Given the description of an element on the screen output the (x, y) to click on. 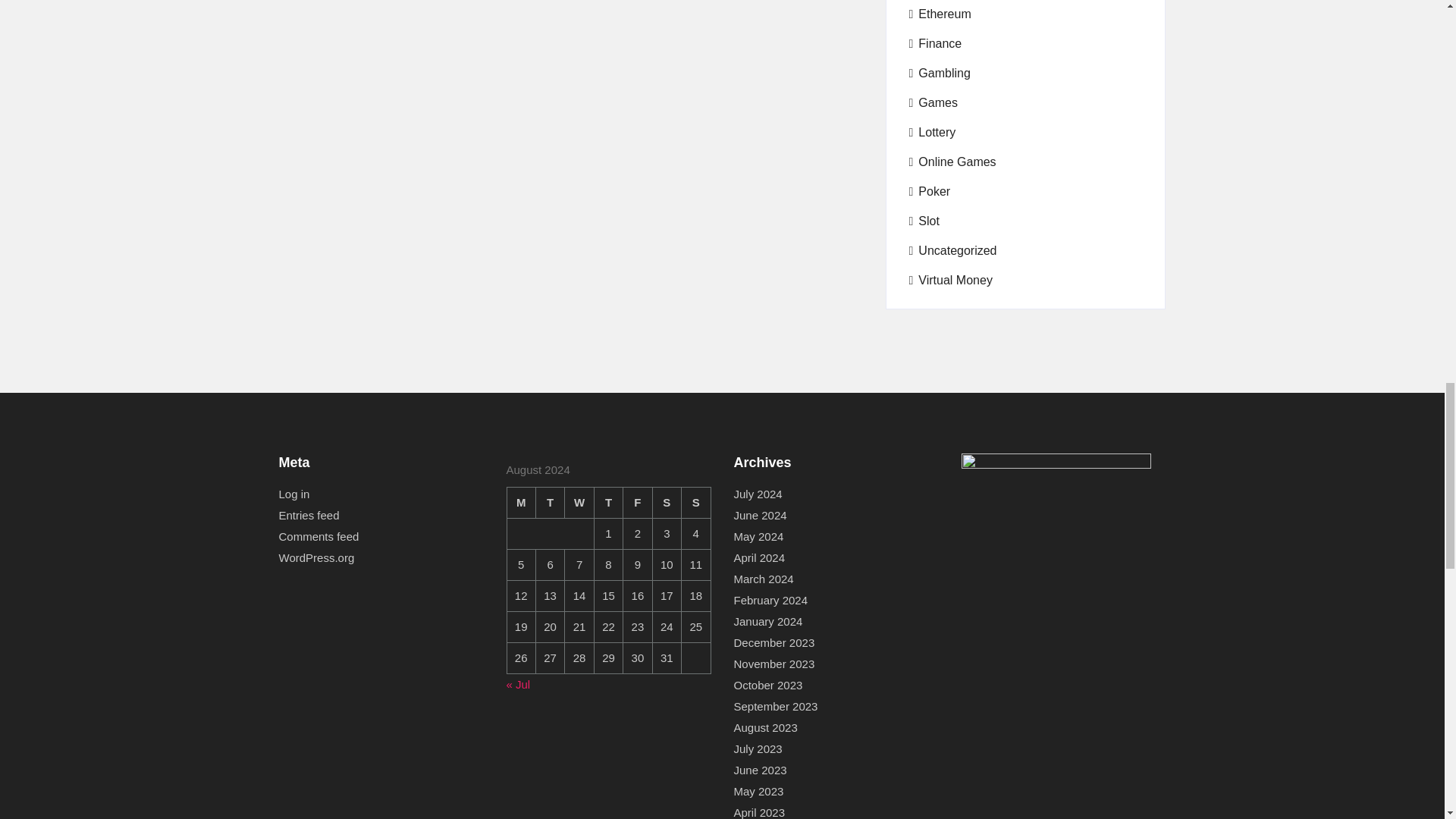
Saturday (666, 502)
February 2024 (770, 599)
Online Games (951, 162)
Comments feed (319, 536)
Games (932, 103)
Monday (520, 502)
WordPress.org (317, 557)
Ethereum (939, 13)
Sunday (695, 502)
Poker (929, 191)
